Given the description of an element on the screen output the (x, y) to click on. 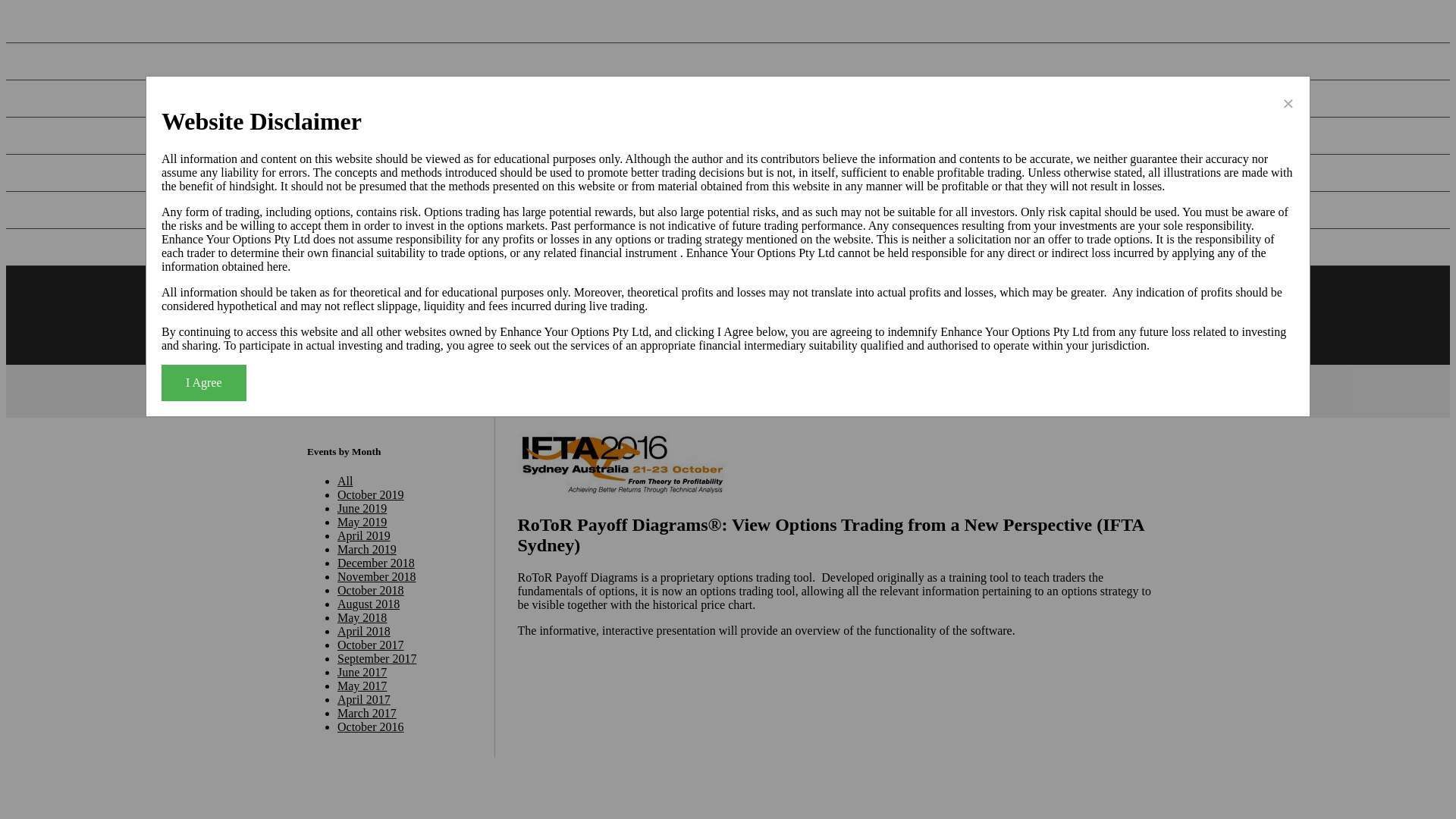
April 2017 Element type: text (363, 699)
Options Tools Element type: text (974, 308)
Courses Element type: text (40, 172)
Home Element type: text (340, 390)
Courses Element type: text (893, 308)
August 2018 Element type: text (368, 603)
About Us Element type: text (44, 246)
April 2019 Element type: text (363, 535)
April 2018 Element type: text (363, 630)
Home Element type: text (35, 23)
May 2019 Element type: text (361, 521)
June 2017 Element type: text (361, 671)
October 2016 Element type: text (370, 726)
Options Tools Element type: text (55, 209)
October 2019 Element type: text (370, 494)
March 2017 Element type: text (366, 712)
October 2018 Element type: text (370, 589)
Research Element type: text (611, 308)
June 2019 Element type: text (361, 508)
All Element type: text (344, 480)
September 2017 Element type: text (376, 658)
Events Element type: text (382, 390)
Events Element type: text (678, 308)
November 2018 Element type: text (376, 576)
October 2017 Element type: text (370, 644)
March 2019 Element type: text (366, 548)
Home Element type: text (546, 308)
May 2017 Element type: text (361, 685)
May 2018 Element type: text (361, 617)
December 2018 Element type: text (375, 562)
Events Element type: text (37, 97)
About Us Element type: text (1043, 308)
Research Element type: text (43, 60)
I Agree Element type: text (203, 382)
